Given the description of an element on the screen output the (x, y) to click on. 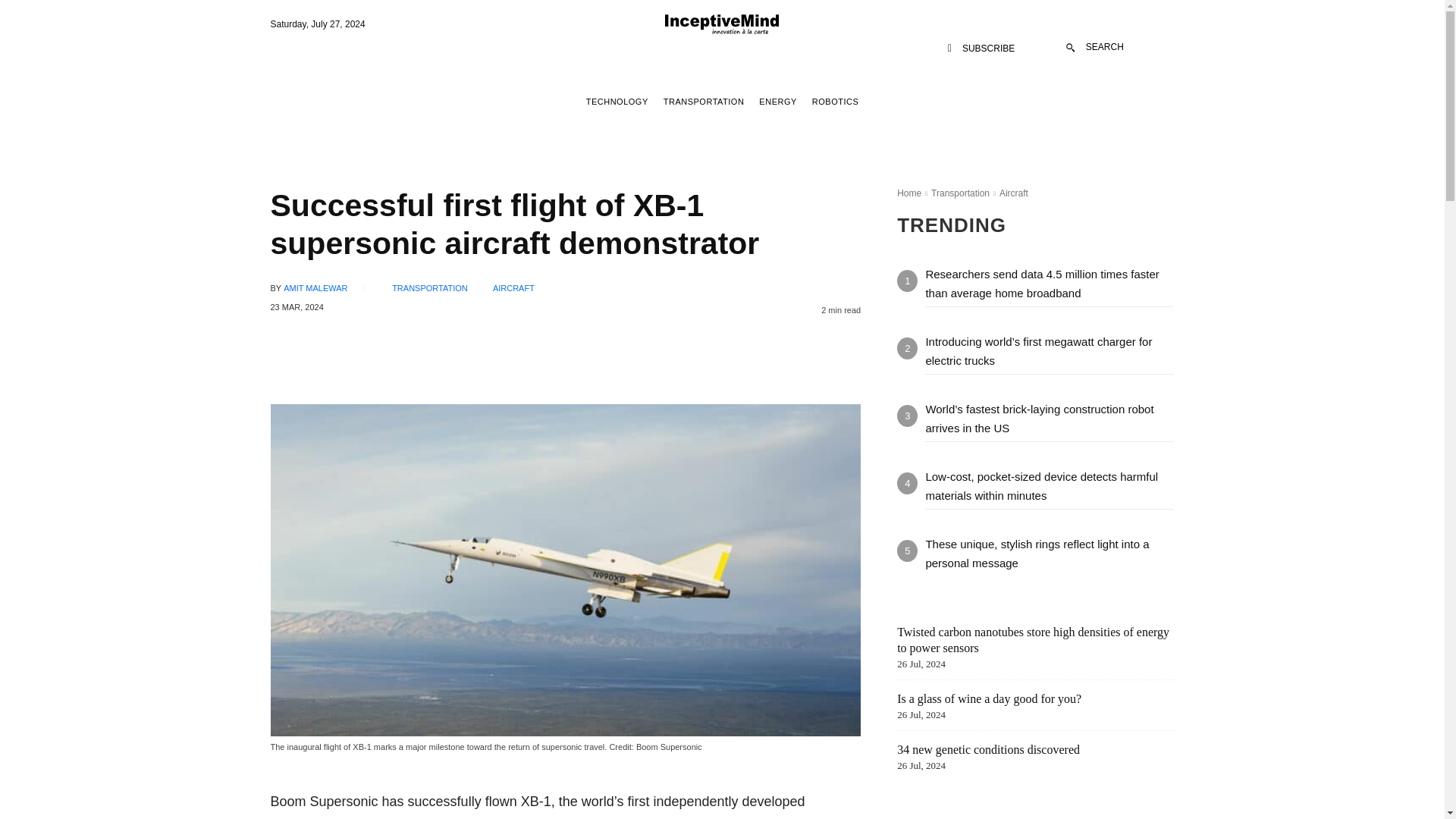
View all posts in Aircraft (1012, 193)
ROBOTICS (834, 101)
AIRCRAFT (513, 288)
ENERGY (777, 101)
SEARCH (1094, 46)
TECHNOLOGY (617, 101)
SUBSCRIBE (980, 48)
supersonic jet (311, 818)
Home (908, 193)
TRANSPORTATION (703, 101)
SEARCH (1094, 46)
Transportation (960, 193)
AMIT MALEWAR (315, 288)
